Given the description of an element on the screen output the (x, y) to click on. 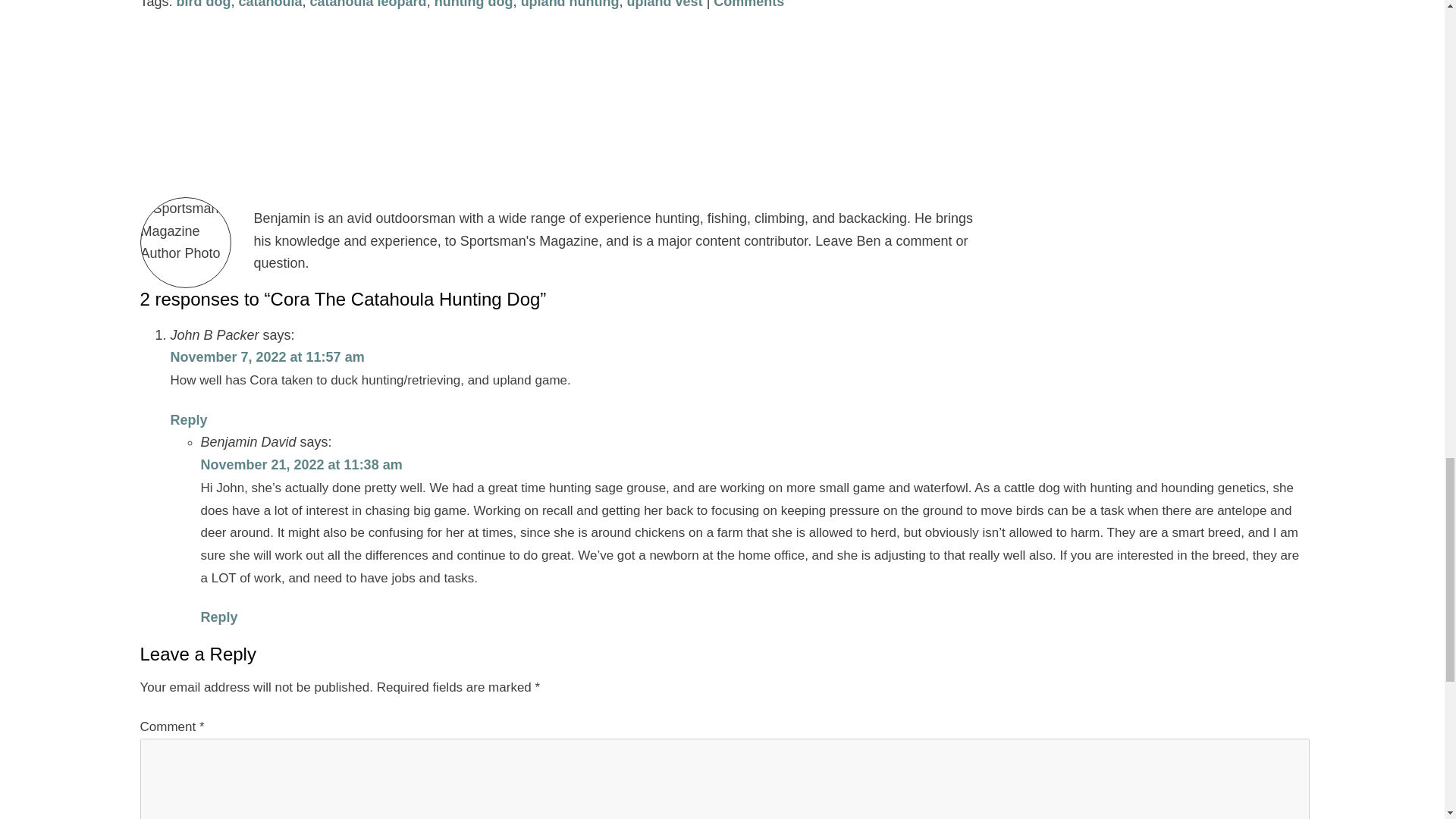
catahoula (270, 4)
Reply (188, 419)
upland vest (665, 4)
November 7, 2022 at 11:57 am (267, 356)
catahoula leopard (368, 4)
upland hunting (570, 4)
Comments (748, 4)
Reply (218, 616)
hunting dog (473, 4)
November 21, 2022 at 11:38 am (300, 464)
